Given the description of an element on the screen output the (x, y) to click on. 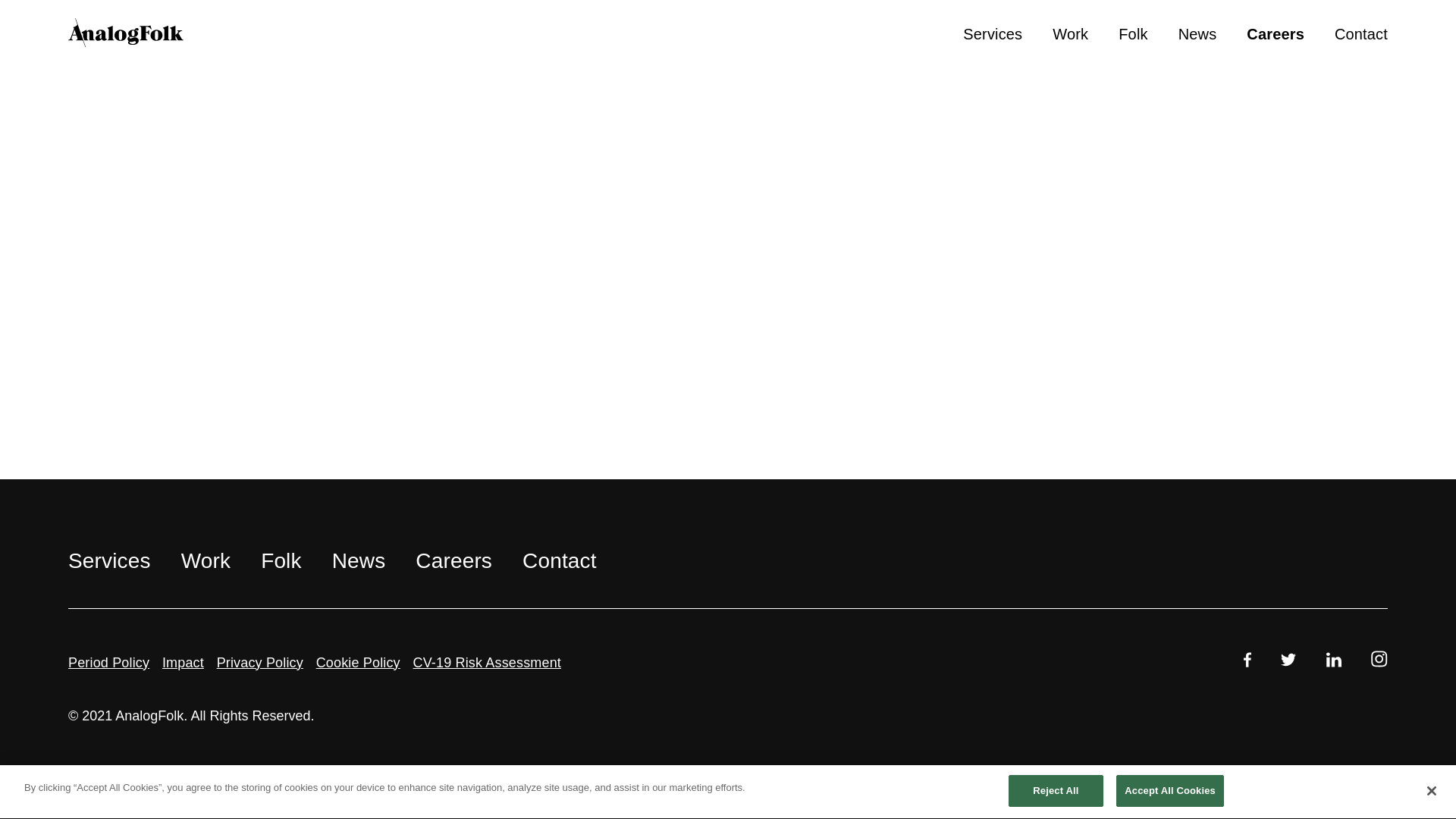
Work (205, 560)
Services (109, 560)
Privacy Policy (259, 662)
Reject All (1056, 798)
Cookie Policy (357, 662)
Services (992, 33)
Accept All Cookies (1170, 797)
Analog Folk (125, 32)
Contact (559, 560)
Careers (1275, 33)
